Given the description of an element on the screen output the (x, y) to click on. 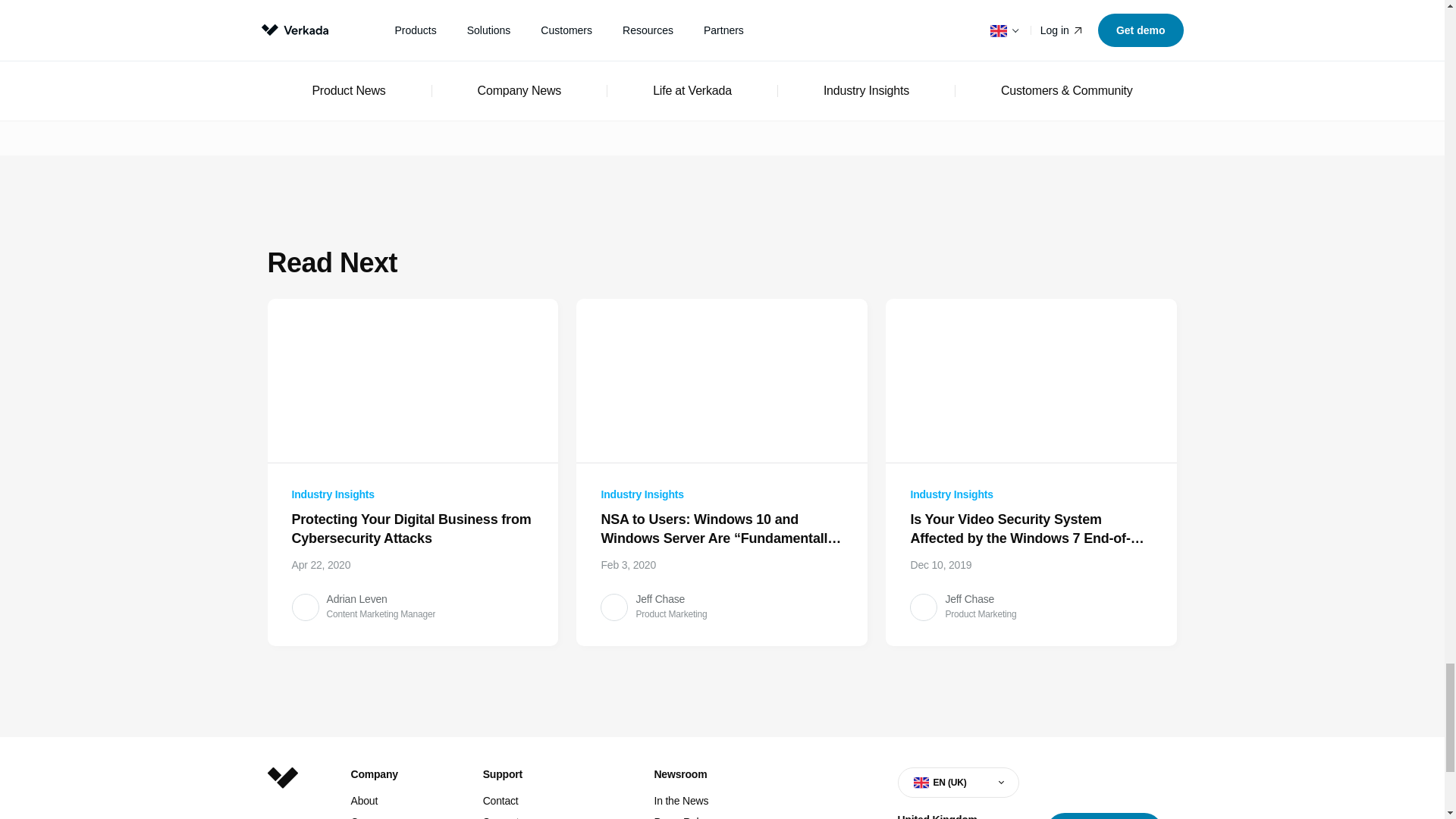
Cybersecurity (302, 42)
View All Tags (734, 10)
